Given the description of an element on the screen output the (x, y) to click on. 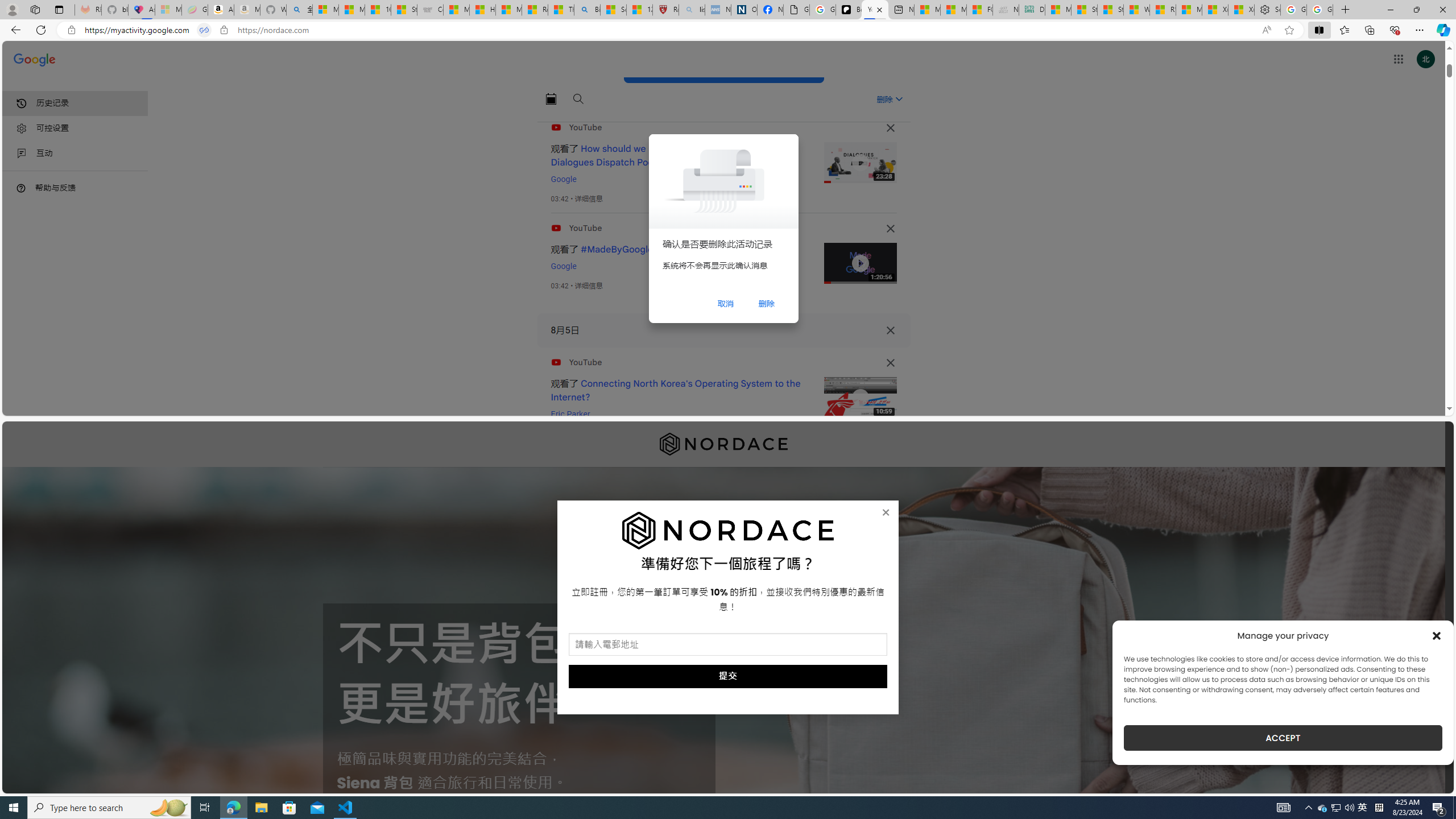
Google Analytics Opt-out Browser Add-on Download Page (795, 9)
AutomationID: input_5_1 (727, 644)
ACCEPT (1283, 737)
Asthma Inhalers: Names and Types (141, 9)
Robert H. Shmerling, MD - Harvard Health (665, 9)
Tabs in split screen (203, 29)
